Given the description of an element on the screen output the (x, y) to click on. 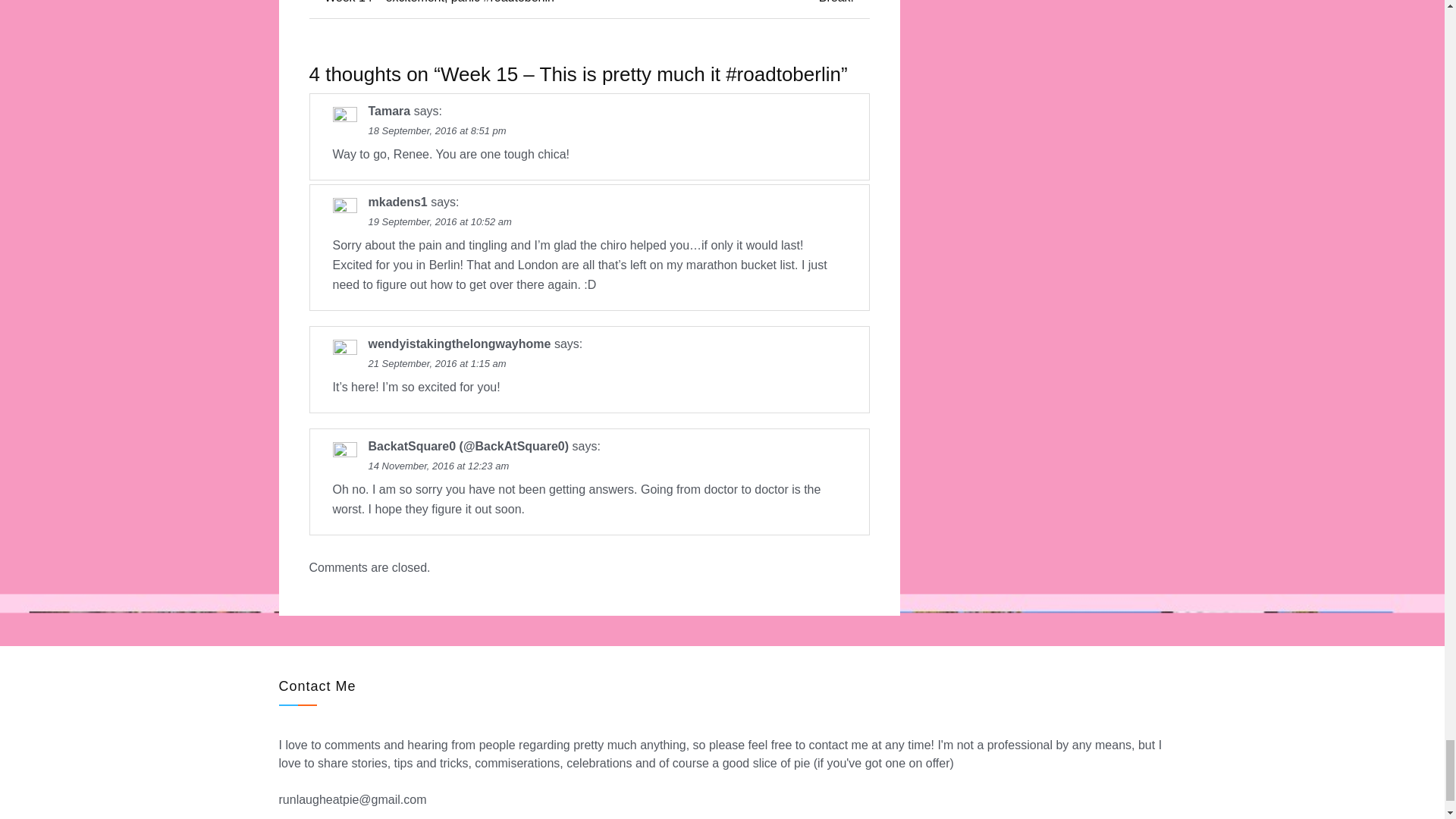
21 September, 2016 at 1:15 am (437, 363)
19 September, 2016 at 10:52 am (440, 221)
18 September, 2016 at 8:51 pm (437, 130)
14 November, 2016 at 12:23 am (438, 465)
mkadens1 (398, 201)
wendyistakingthelongwayhome (459, 343)
